Given the description of an element on the screen output the (x, y) to click on. 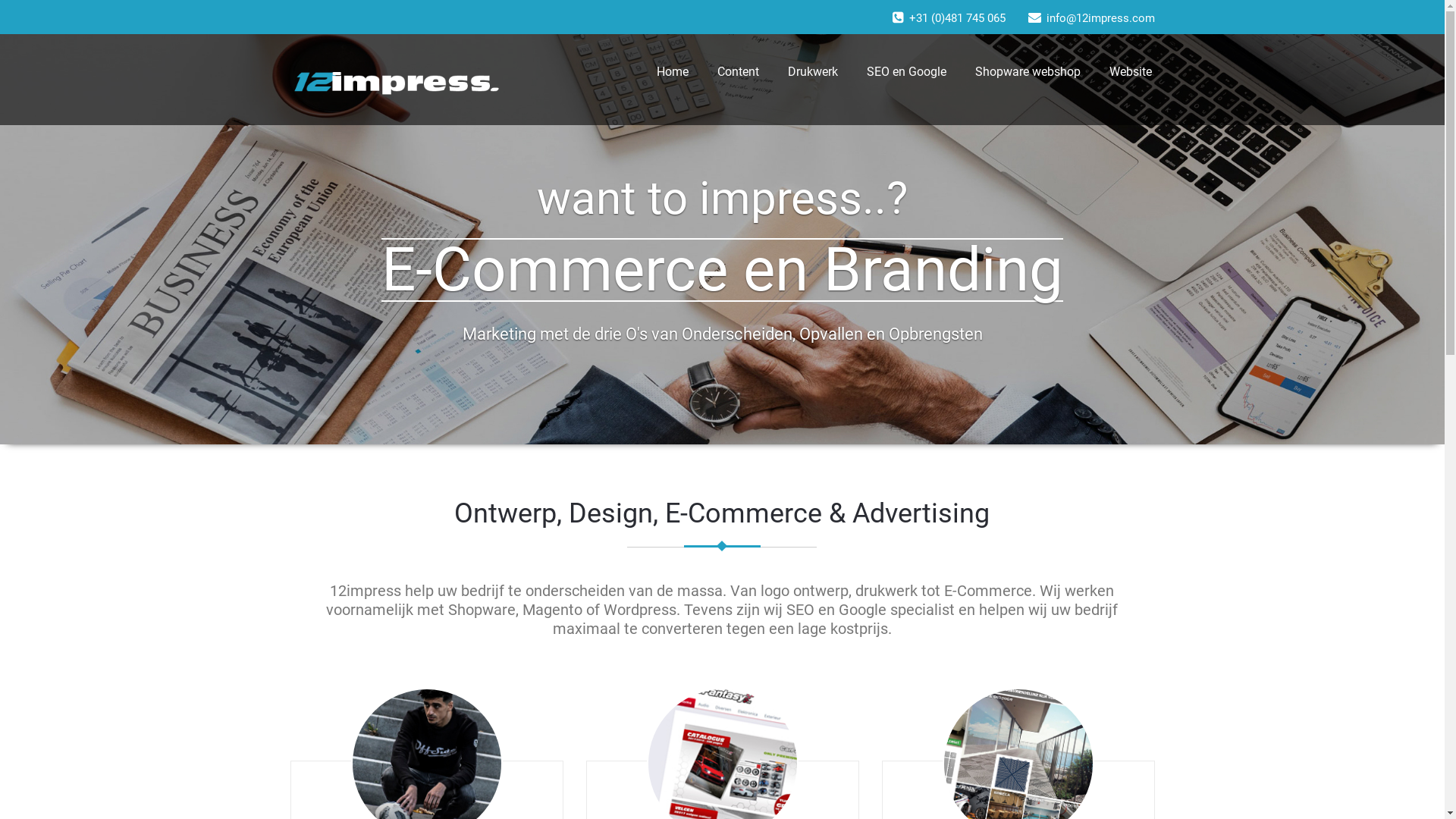
Drukwerk Element type: text (812, 71)
Shopware webshop Element type: text (1027, 71)
SEO en Google Element type: text (906, 71)
Website Element type: text (1130, 71)
Content Element type: text (737, 71)
Home Element type: text (671, 71)
